Given the description of an element on the screen output the (x, y) to click on. 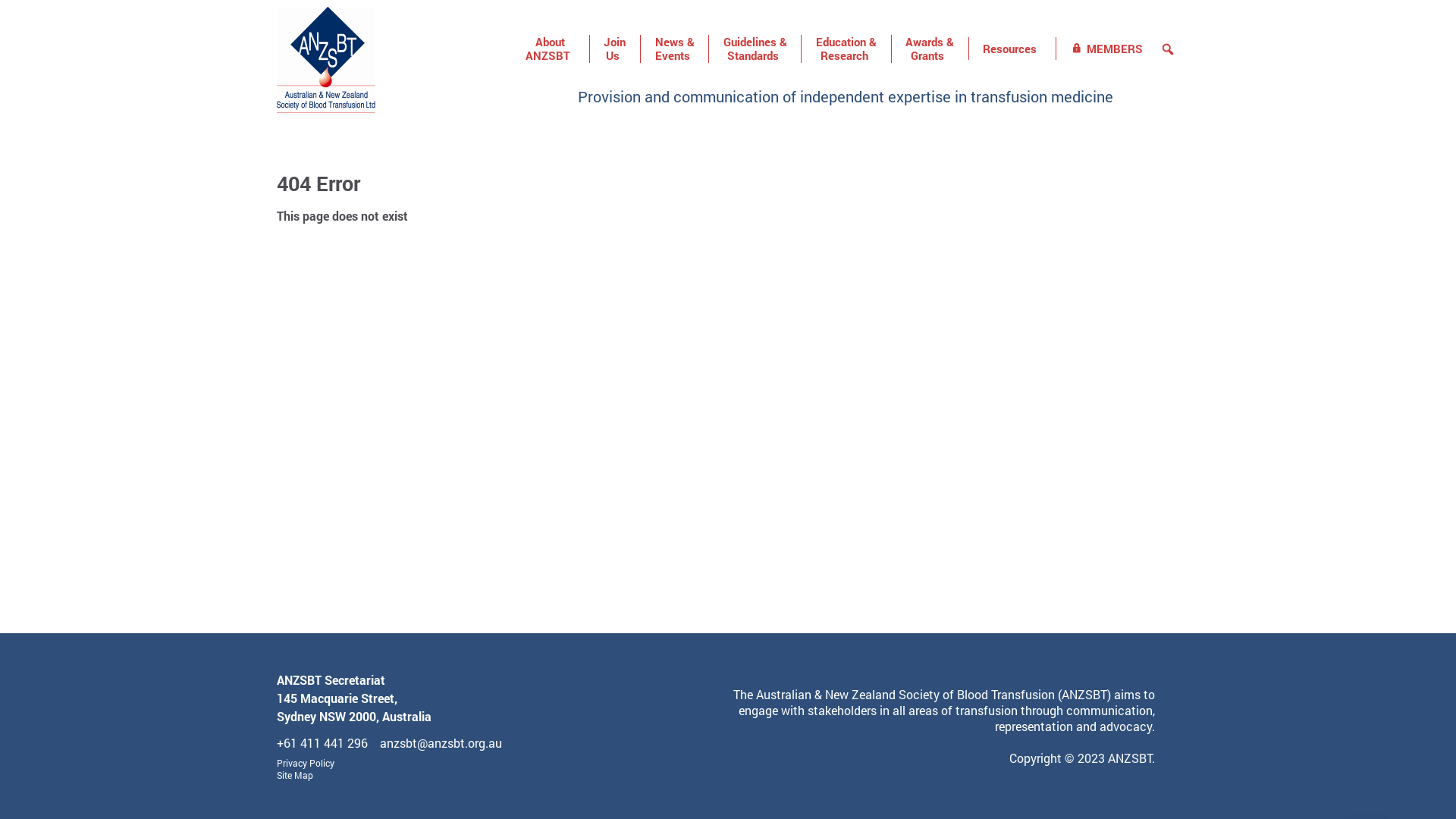
News &
Events Element type: text (674, 48)
Privacy Policy Element type: text (305, 762)
Education &
Research Element type: text (845, 48)
anzsbt@anzsbt.org.au Element type: text (440, 742)
MEMBERS Element type: text (1106, 48)
Resources Element type: text (1012, 48)
Search Element type: text (11, 7)
Join
Us Element type: text (614, 48)
Awards &
Grants Element type: text (929, 48)
+61 411 441 296 Element type: text (321, 742)
About
ANZSBT Element type: text (550, 48)
Guidelines &
Standards Element type: text (754, 48)
Site Map Element type: text (294, 774)
